Given the description of an element on the screen output the (x, y) to click on. 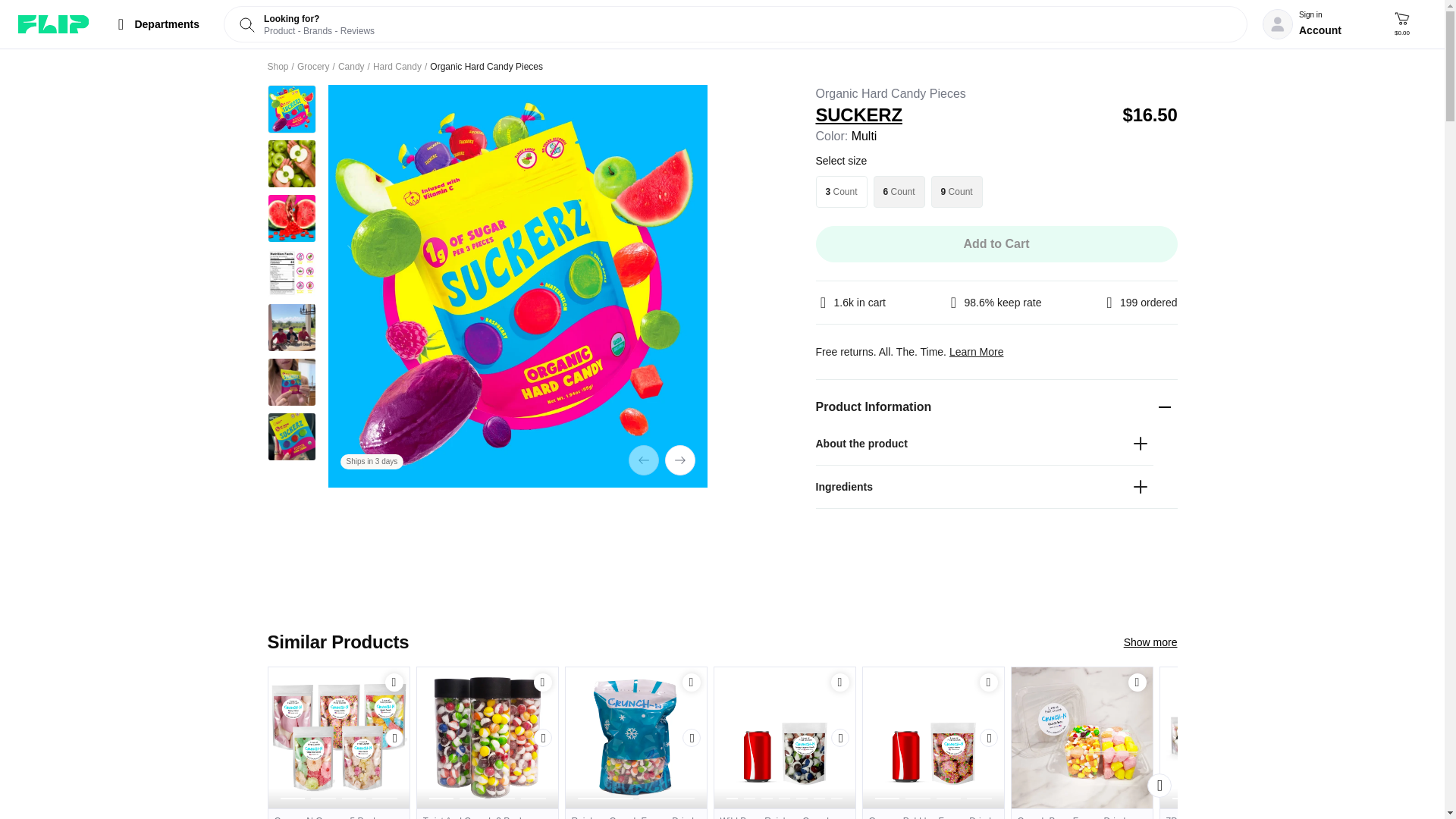
Learn More (976, 351)
Go to show more (1150, 641)
SUCKERZ (963, 115)
Add to Cart (691, 682)
Crunch-N Rainbow Crunch Freeze Dried Candy (636, 737)
Suckerz (963, 115)
9 Count (956, 192)
Twist And Crunch 3 Pack Rainbow Crunch Freeze Dried (486, 813)
Shop (277, 66)
Crunch-N Cruncn-N Gummy 5 Pack Freeze Dried Candy (338, 737)
Cruncn-N Gummy 5 Pack Freeze Dried Candy (338, 813)
6 Count (898, 192)
Add to Cart (691, 682)
Grocery (313, 66)
Crunch-N Twist And Crunch 3 Pack Rainbow Crunch Freeze Dried (486, 737)
